Given the description of an element on the screen output the (x, y) to click on. 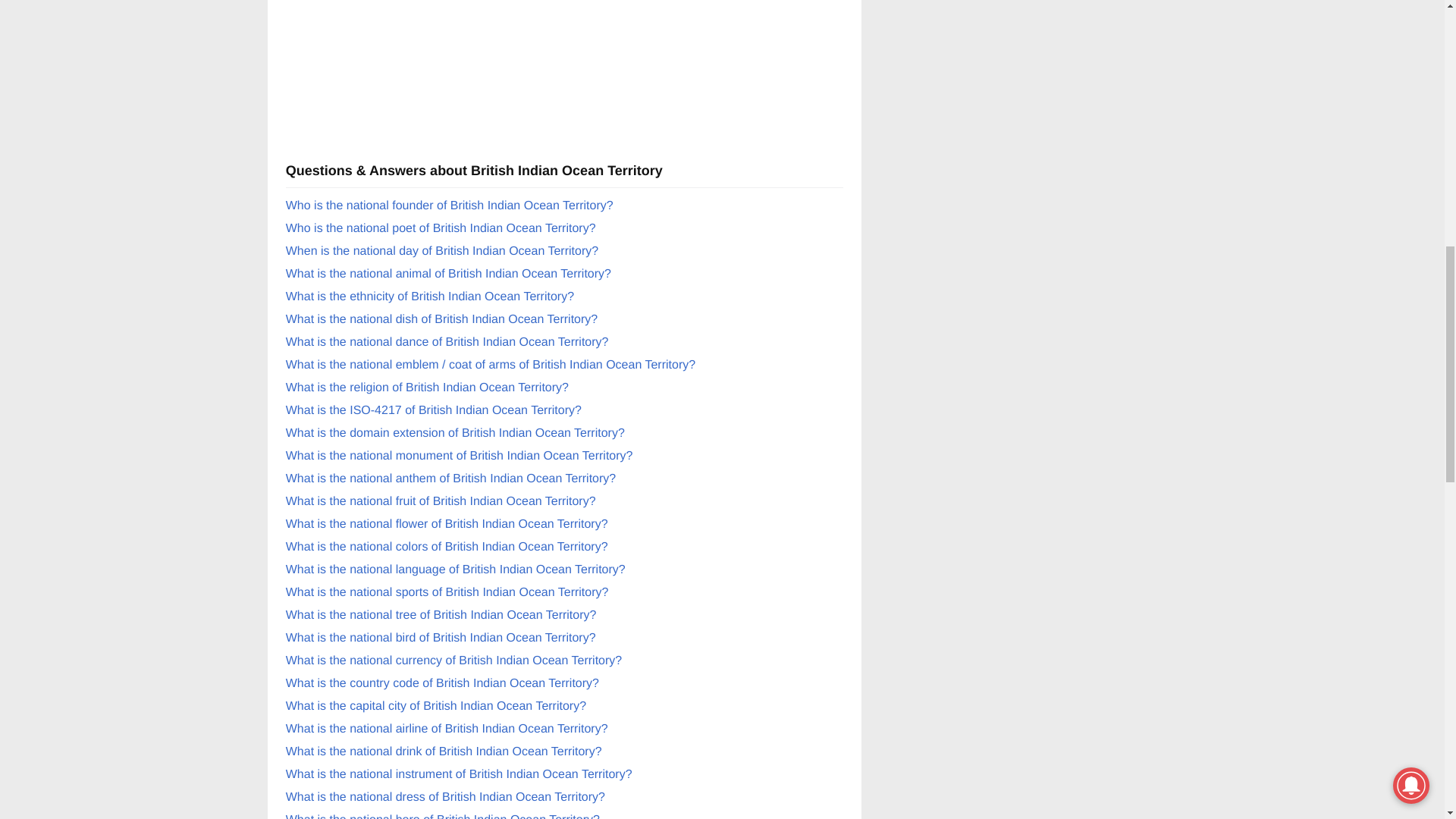
What is the national dish of British Indian Ocean Territory? (440, 318)
When is the national day of British Indian Ocean Territory? (441, 250)
Religion of British Indian Ocean Territory (427, 387)
ISO of British Indian Ocean Territory (432, 410)
National monument of British Indian Ocean Territory (459, 455)
National anthem of British Indian Ocean Territory (450, 478)
National emblem of British Indian Ocean Territory (490, 364)
What is the ISO-4217 of British Indian Ocean Territory? (432, 410)
Who is the national poet of British Indian Ocean Territory? (440, 228)
National dance of British Indian Ocean Territory (446, 341)
TLD of British Indian Ocean Territory (454, 432)
What is the religion of British Indian Ocean Territory? (427, 387)
What is the ethnicity of British Indian Ocean Territory? (429, 296)
National fruit of British Indian Ocean Territory (440, 501)
